Given the description of an element on the screen output the (x, y) to click on. 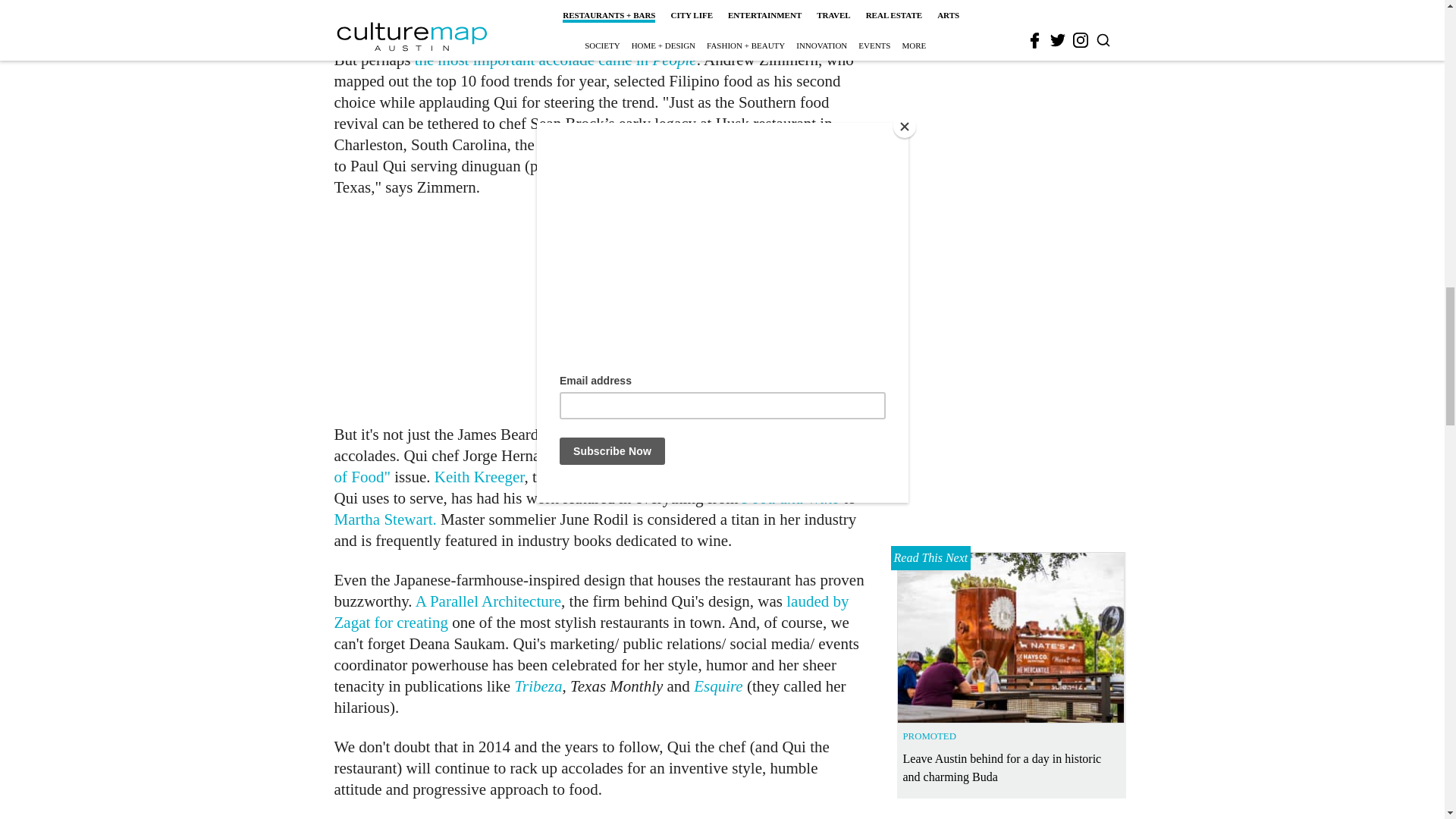
3rd party ad content (600, 310)
